Given the description of an element on the screen output the (x, y) to click on. 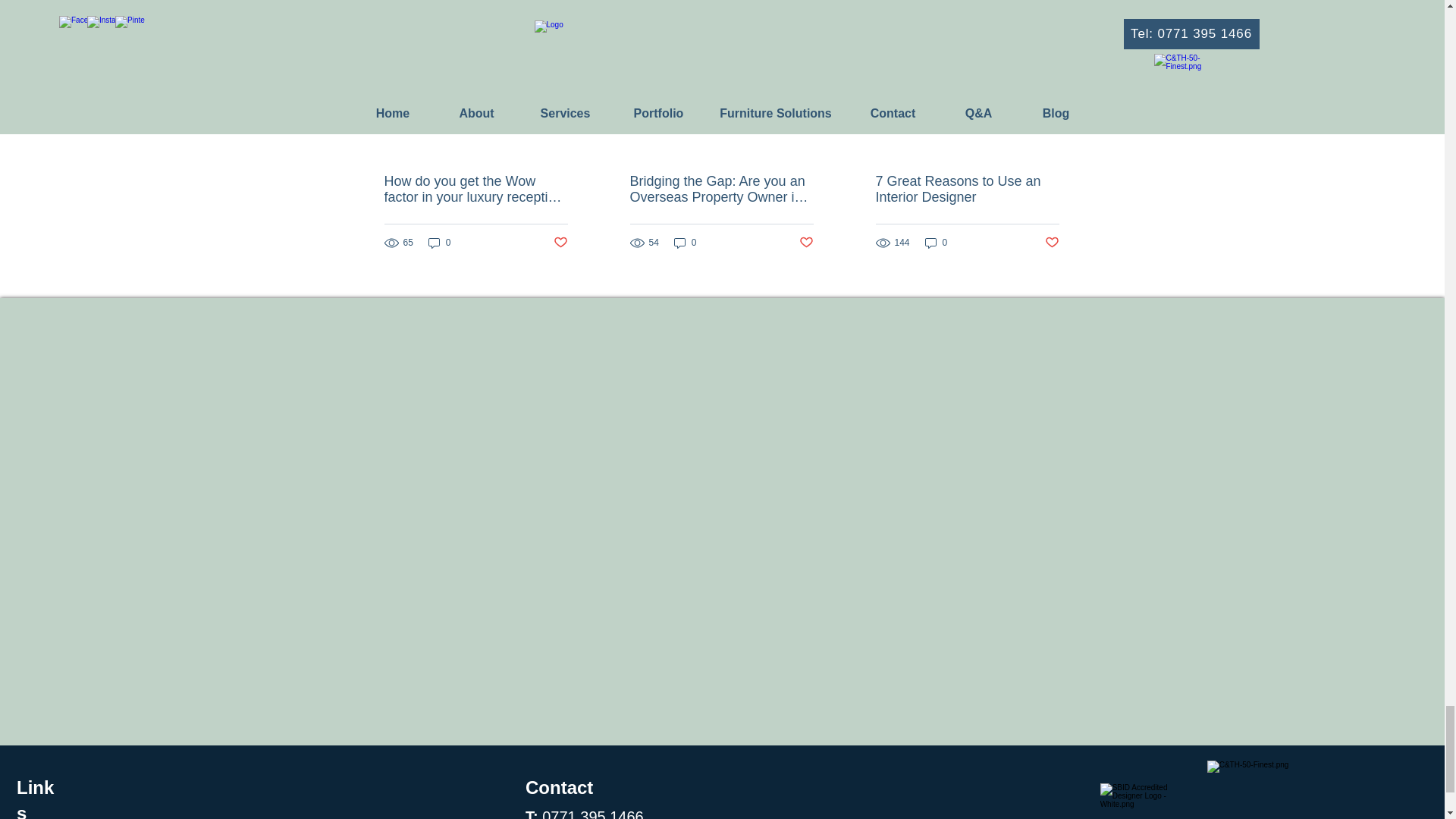
0 (439, 242)
7 Great Reasons to Use an Interior Designer (966, 189)
0 (936, 242)
Post not marked as liked (560, 242)
Post not marked as liked (806, 242)
0 (685, 242)
See All (1061, 8)
